Given the description of an element on the screen output the (x, y) to click on. 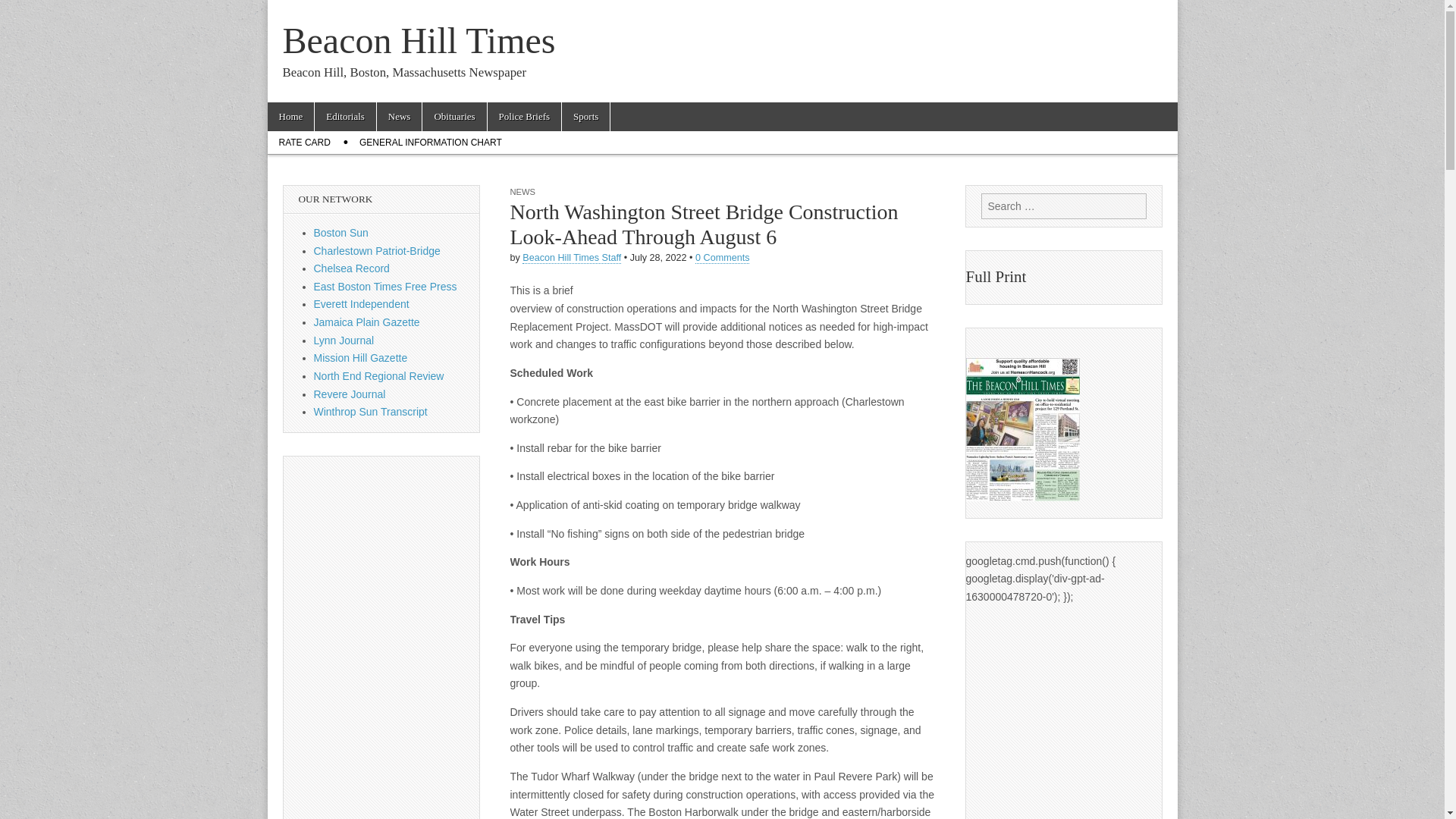
Boston Sun (341, 232)
Home (290, 116)
Beacon Hill Times (418, 40)
0 Comments (722, 257)
Lynn Journal (344, 340)
Beacon Hill Times Staff (571, 257)
NEWS (522, 191)
East Boston Times Free Press (385, 286)
Sports (586, 116)
Editorials (344, 116)
